Given the description of an element on the screen output the (x, y) to click on. 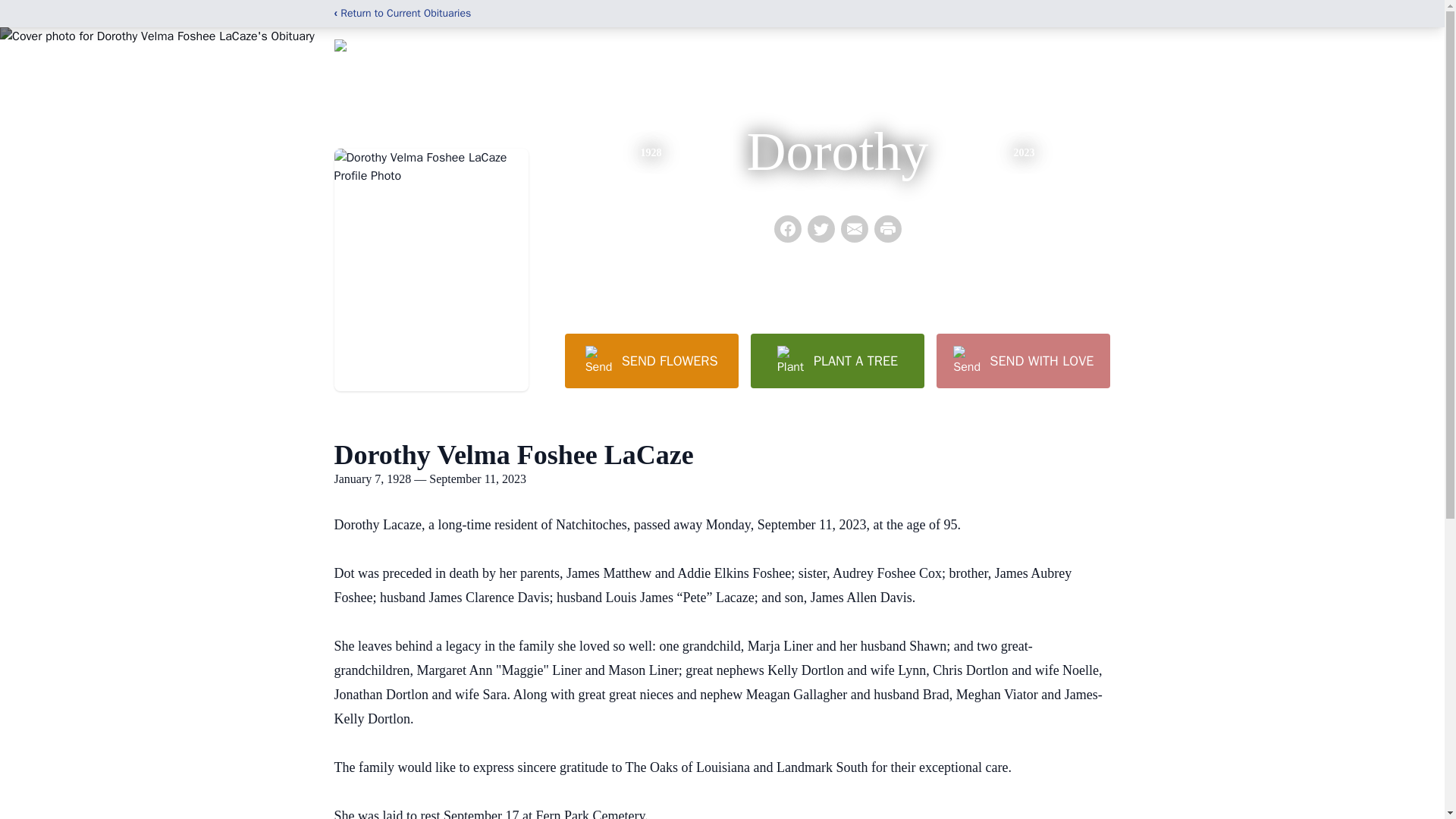
SEND FLOWERS (651, 360)
PLANT A TREE (837, 360)
SEND WITH LOVE (1022, 360)
